Given the description of an element on the screen output the (x, y) to click on. 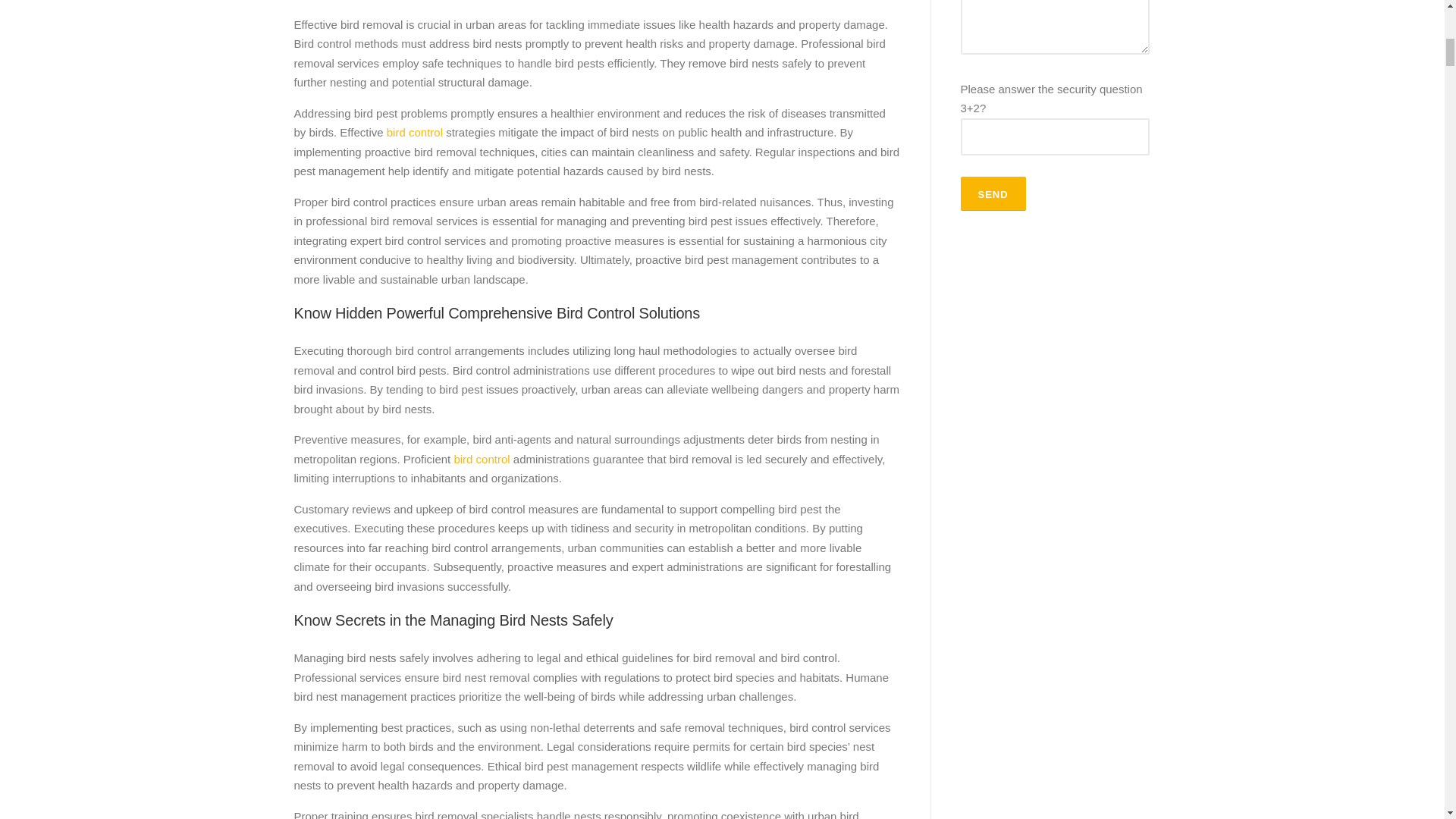
Send (992, 193)
bird control (414, 132)
bird control (480, 459)
